Given the description of an element on the screen output the (x, y) to click on. 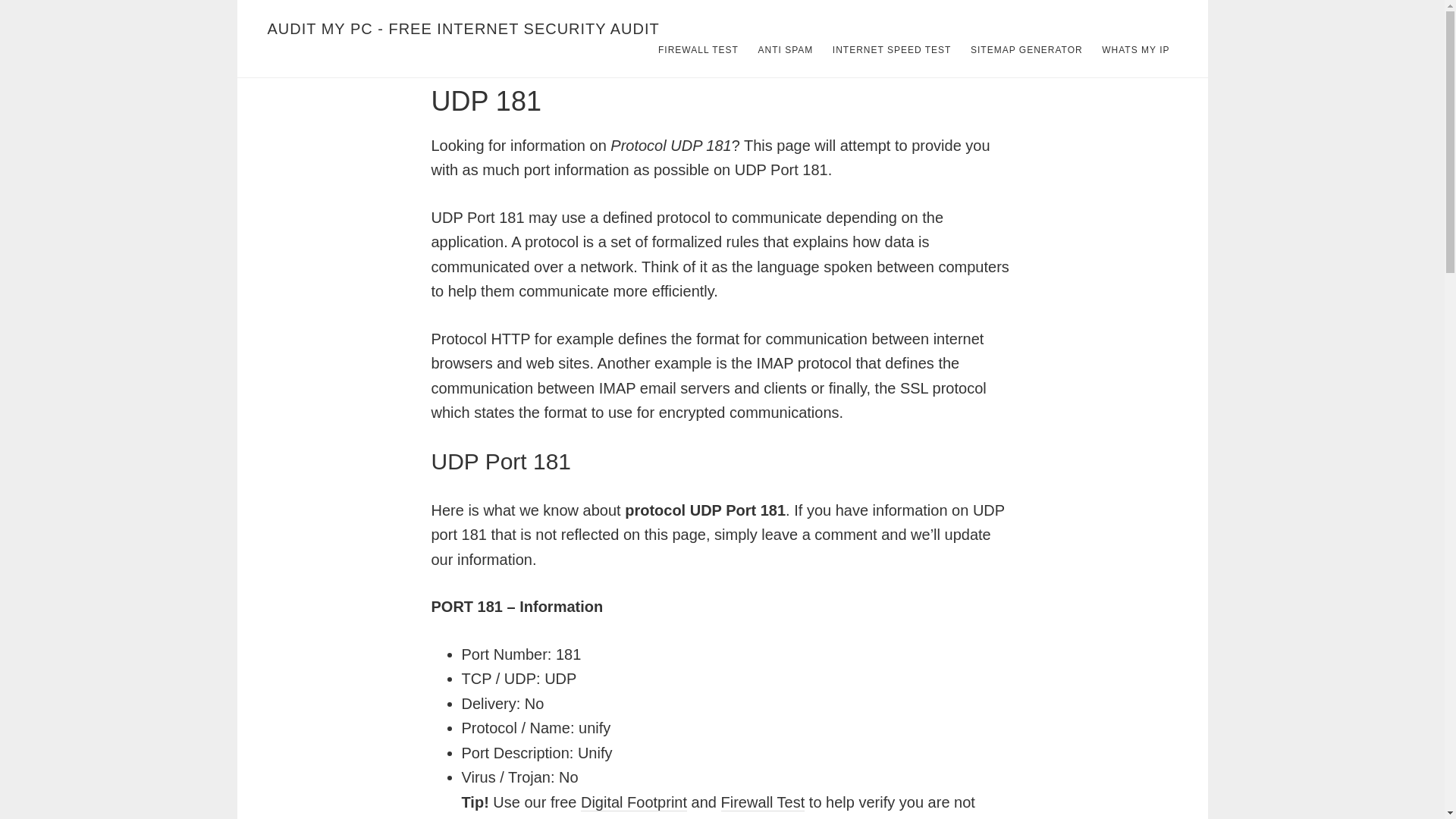
AUDIT MY PC - FREE INTERNET SECURITY AUDIT (462, 28)
Firewall Test (762, 802)
FIREWALL TEST (697, 49)
WHATS MY IP (1135, 49)
Digital Footprint (633, 802)
INTERNET SPEED TEST (892, 49)
SITEMAP GENERATOR (1026, 49)
ANTI SPAM (785, 49)
Digital Footprint (633, 802)
Firewall Test (762, 802)
